Given the description of an element on the screen output the (x, y) to click on. 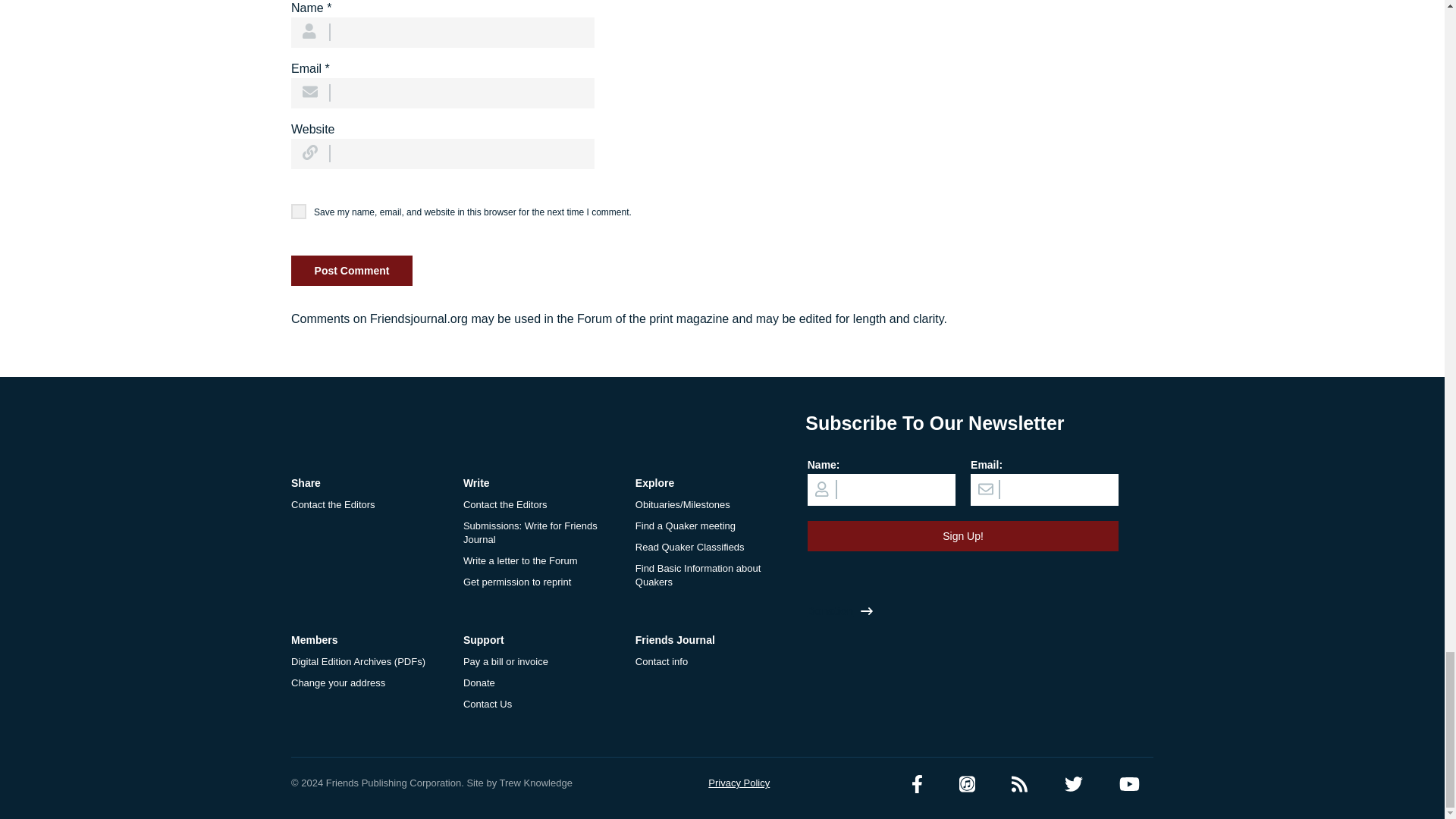
Post Comment (351, 270)
Sign Up! (963, 535)
